Given the description of an element on the screen output the (x, y) to click on. 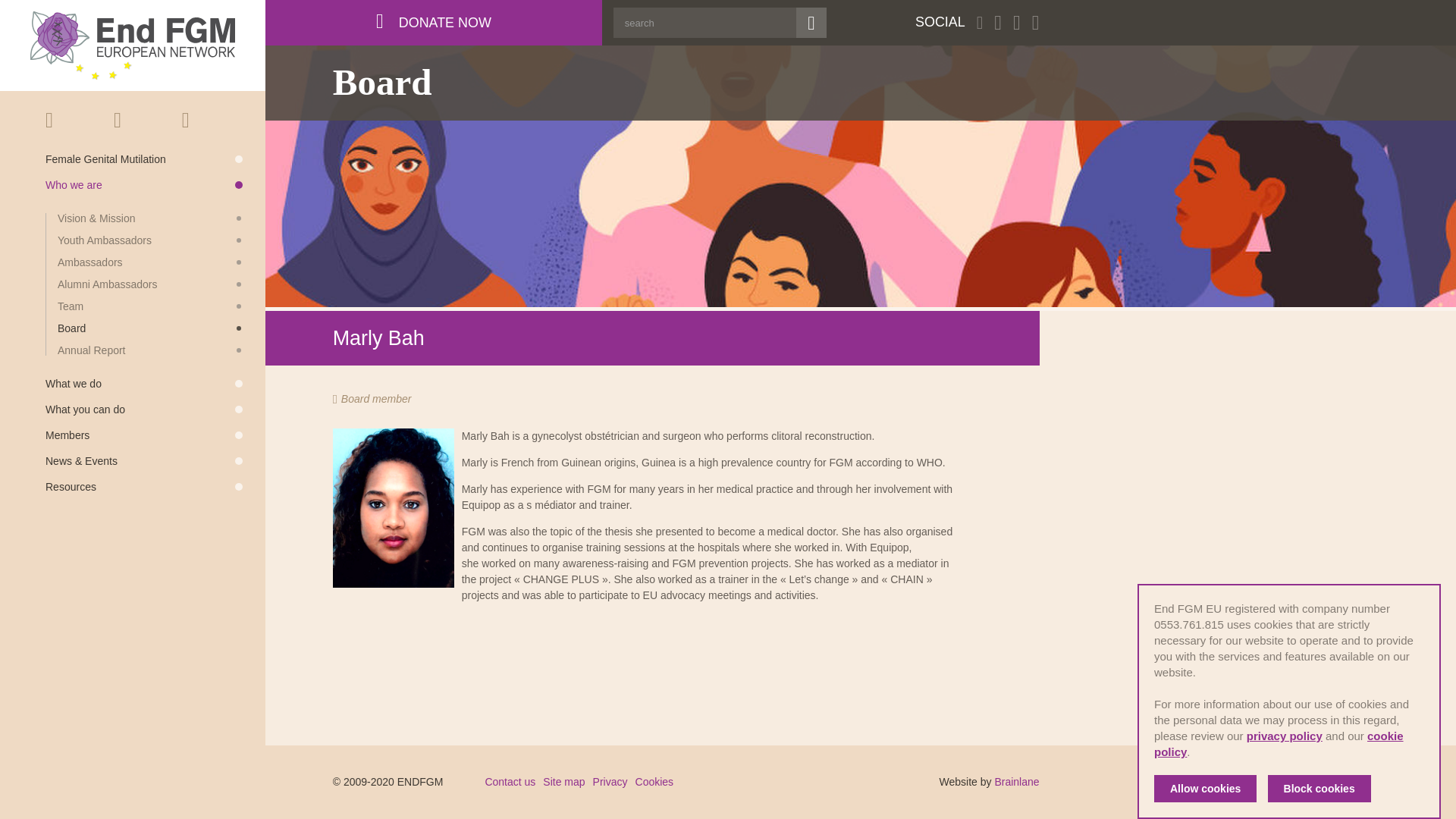
Who we are (144, 184)
Annual Report (150, 349)
Female Genital Mutilation (144, 158)
Youth Ambassadors (150, 240)
Who we are (144, 184)
Alumni Ambassadors (150, 284)
Alumni Ambassadors (150, 284)
Home (69, 120)
Board (150, 327)
What you can do (144, 409)
